Given the description of an element on the screen output the (x, y) to click on. 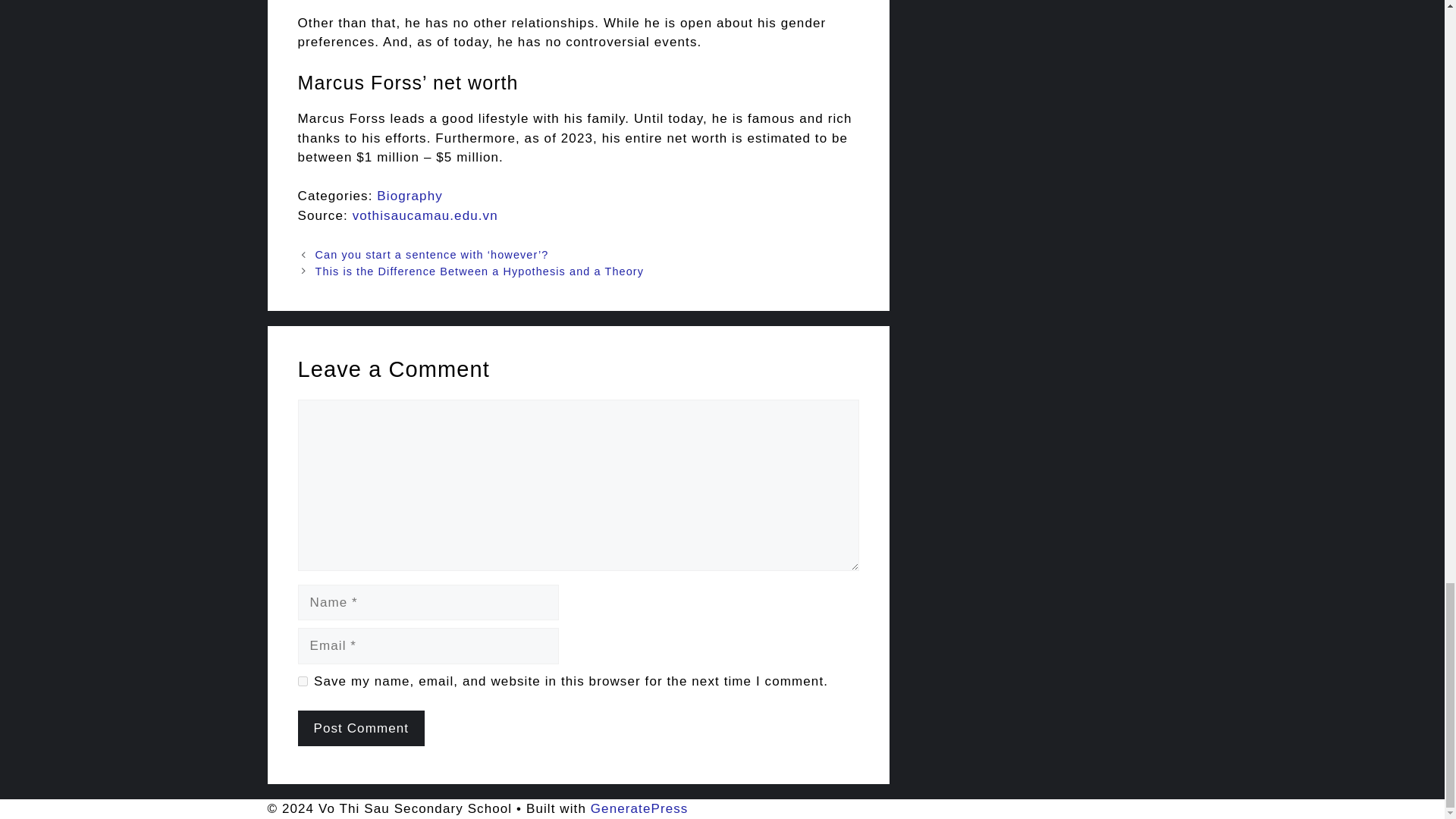
yes (302, 681)
Post Comment (361, 728)
Post Comment (361, 728)
Biography (409, 196)
GeneratePress (639, 808)
vothisaucamau.edu.vn (424, 215)
This is the Difference Between a Hypothesis and a Theory (479, 271)
